Given the description of an element on the screen output the (x, y) to click on. 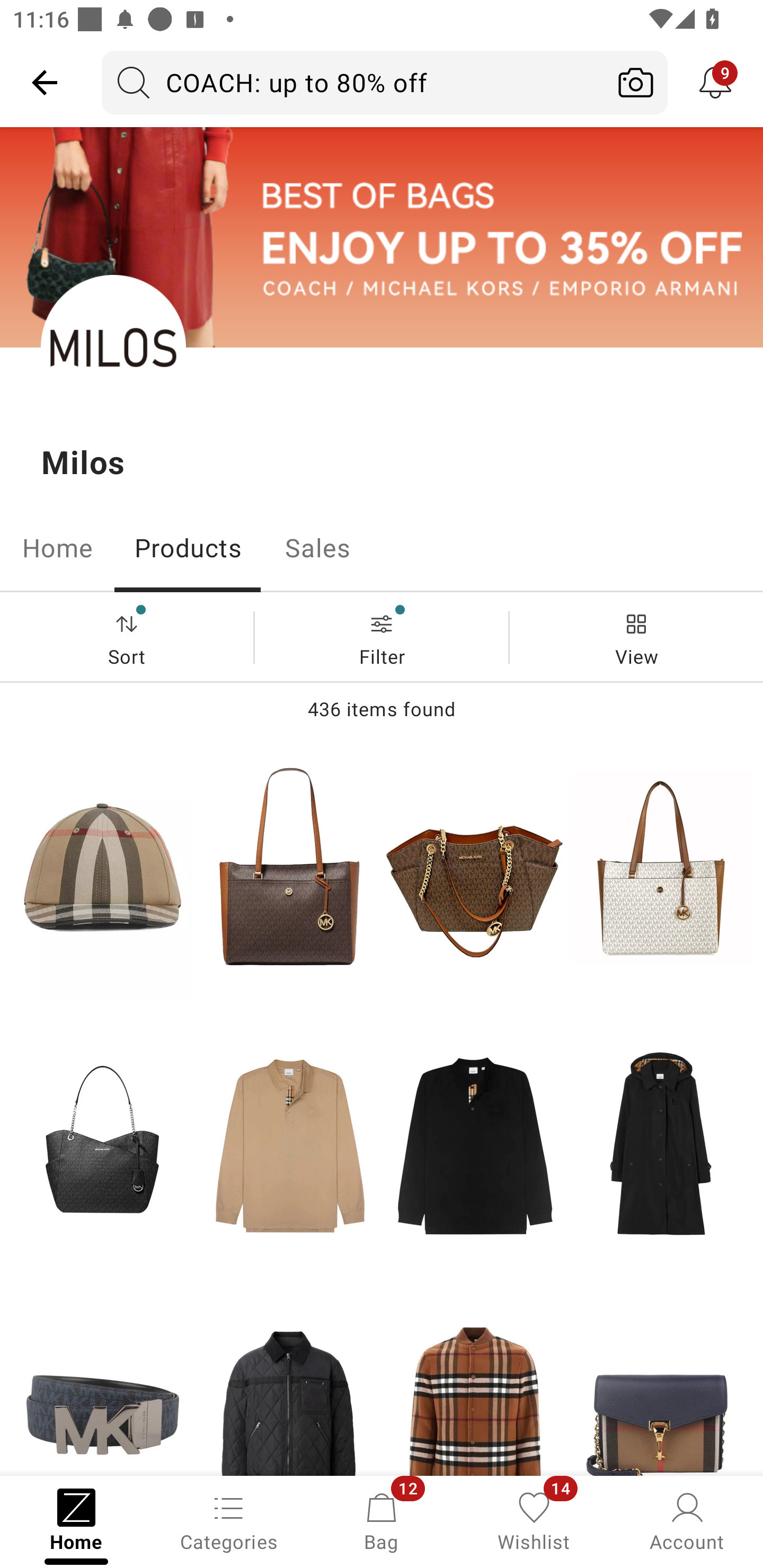
Navigate up (44, 82)
COACH: up to 80% off (352, 82)
Home (57, 547)
Sales (317, 547)
Categories (228, 1519)
Bag, 12 new notifications Bag (381, 1519)
Wishlist, 14 new notifications Wishlist (533, 1519)
Account (686, 1519)
